Given the description of an element on the screen output the (x, y) to click on. 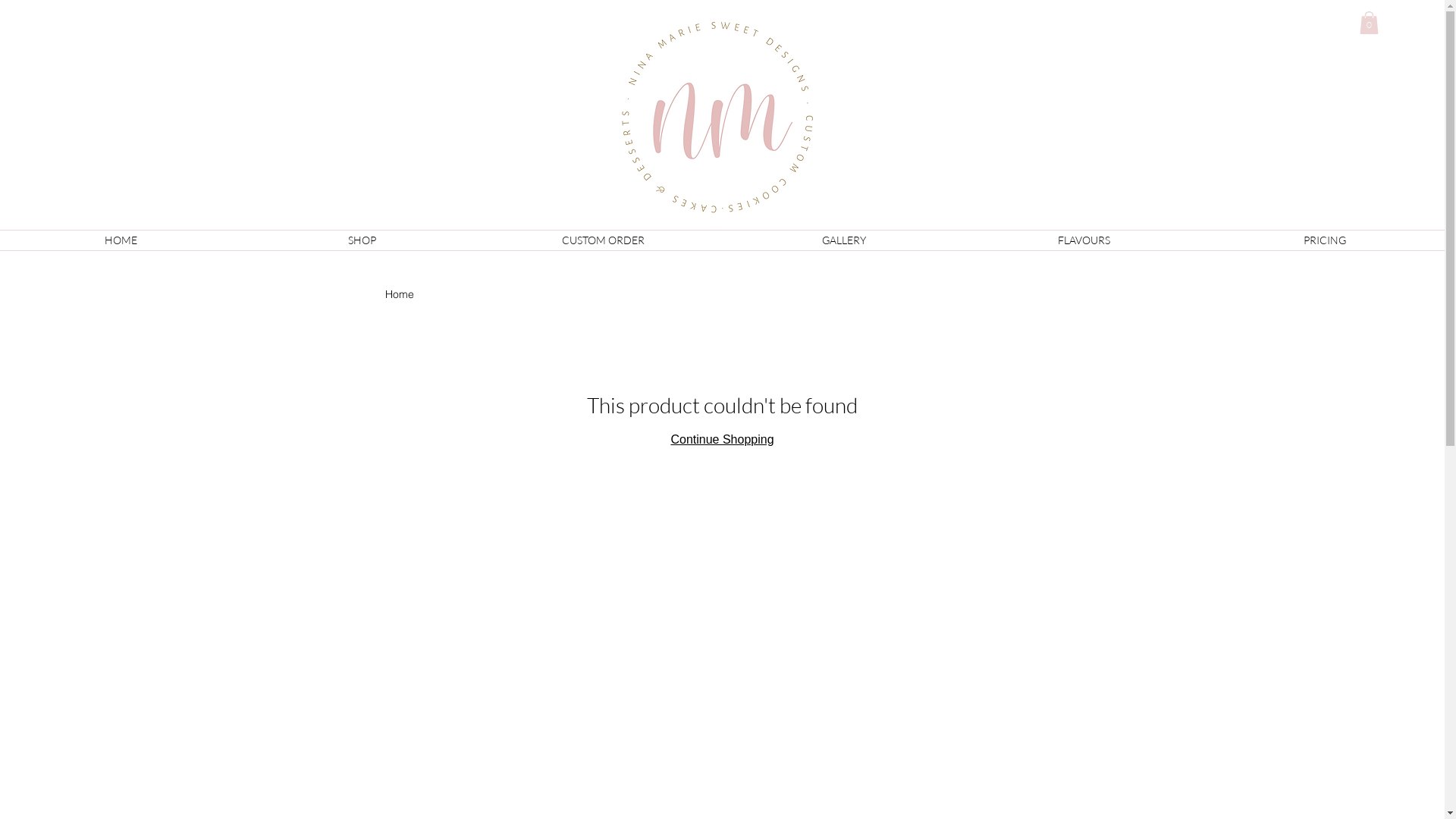
CUSTOM ORDER Element type: text (602, 240)
FLAVOURS Element type: text (1083, 240)
0 Element type: text (1367, 22)
HOME Element type: text (120, 240)
Embedded Content Element type: hover (384, 233)
Home Element type: text (399, 294)
Continue Shopping Element type: text (721, 439)
SHOP Element type: text (361, 240)
